Given the description of an element on the screen output the (x, y) to click on. 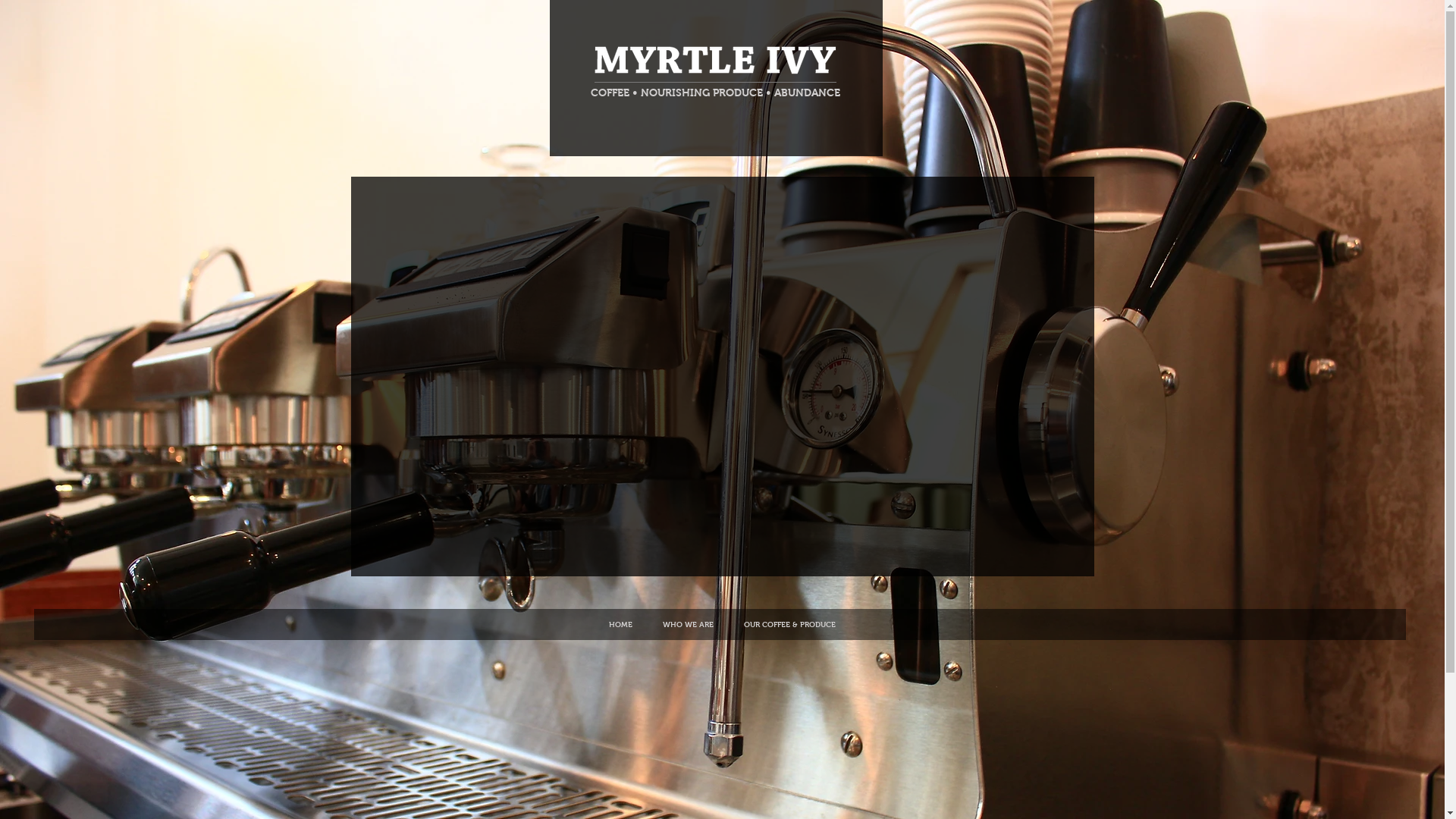
HOME Element type: text (620, 624)
WHO WE ARE Element type: text (687, 624)
OUR COFFEE & PRODUCE Element type: text (789, 624)
